Given the description of an element on the screen output the (x, y) to click on. 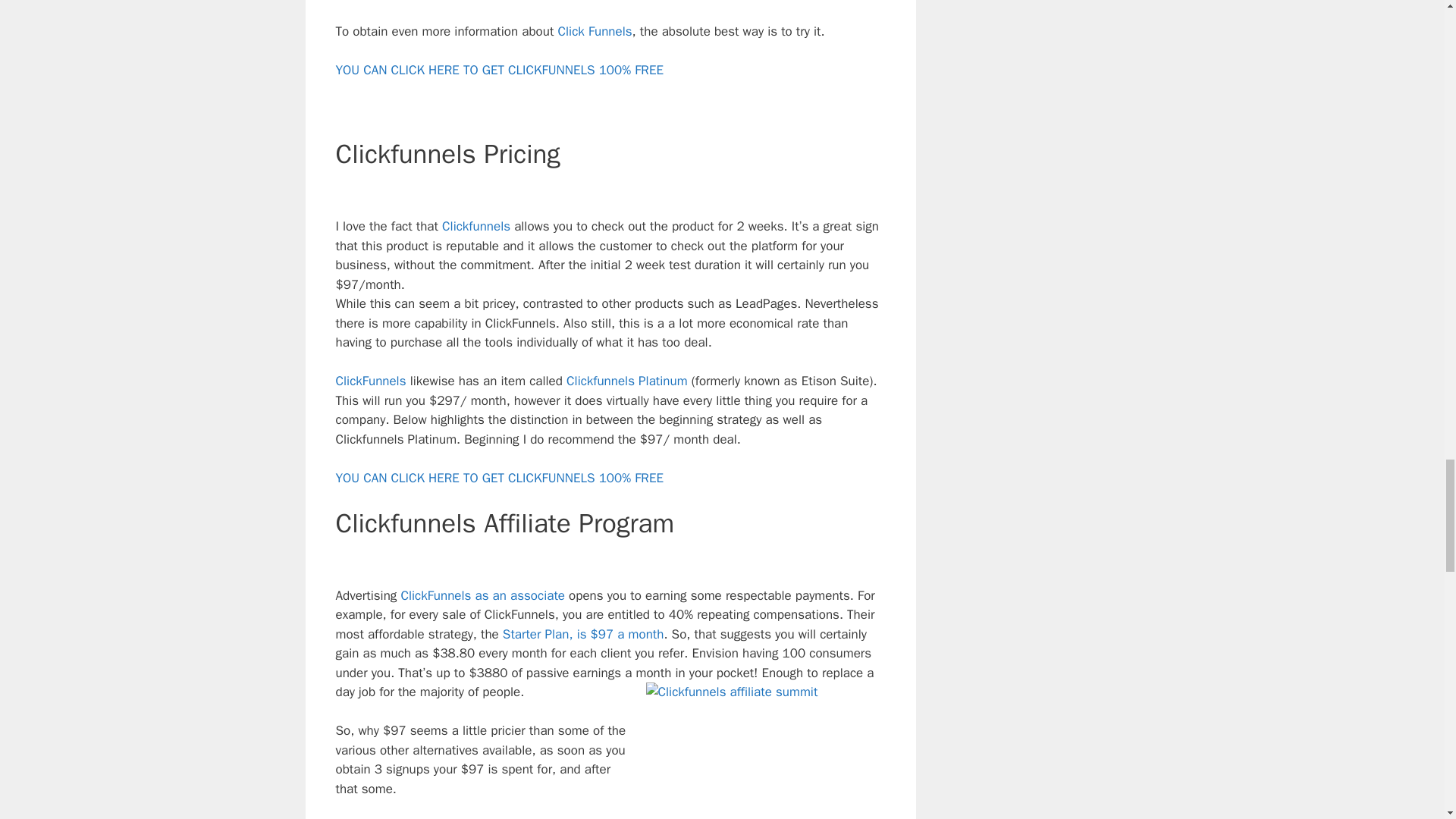
Clickfunnels (476, 226)
ClickFunnels as an associate (480, 595)
ClickFunnels (370, 381)
Click Funnels (594, 31)
Clickfunnels Platinum (626, 381)
